Given the description of an element on the screen output the (x, y) to click on. 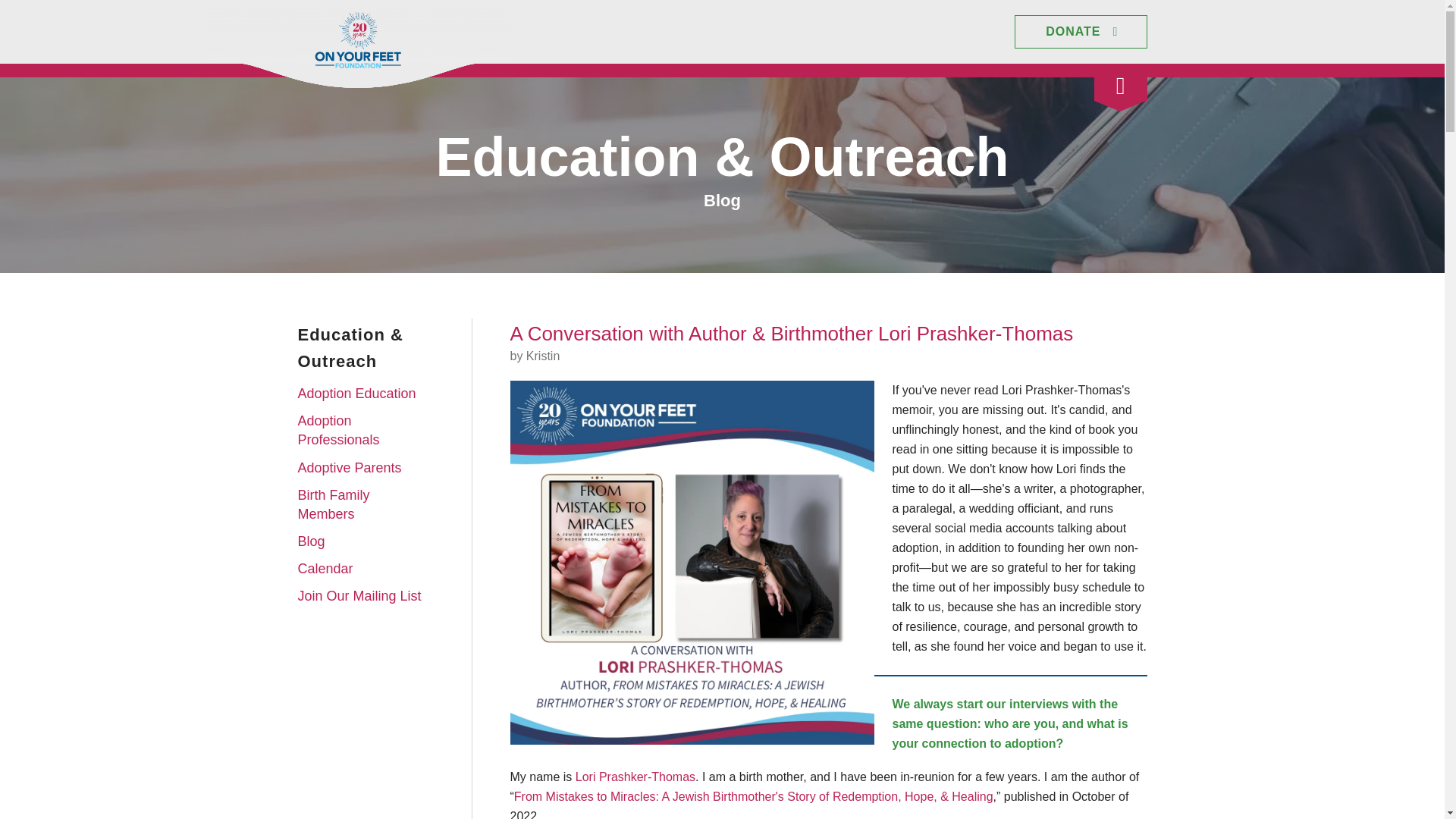
DONATE (1080, 31)
logo (358, 39)
